Given the description of an element on the screen output the (x, y) to click on. 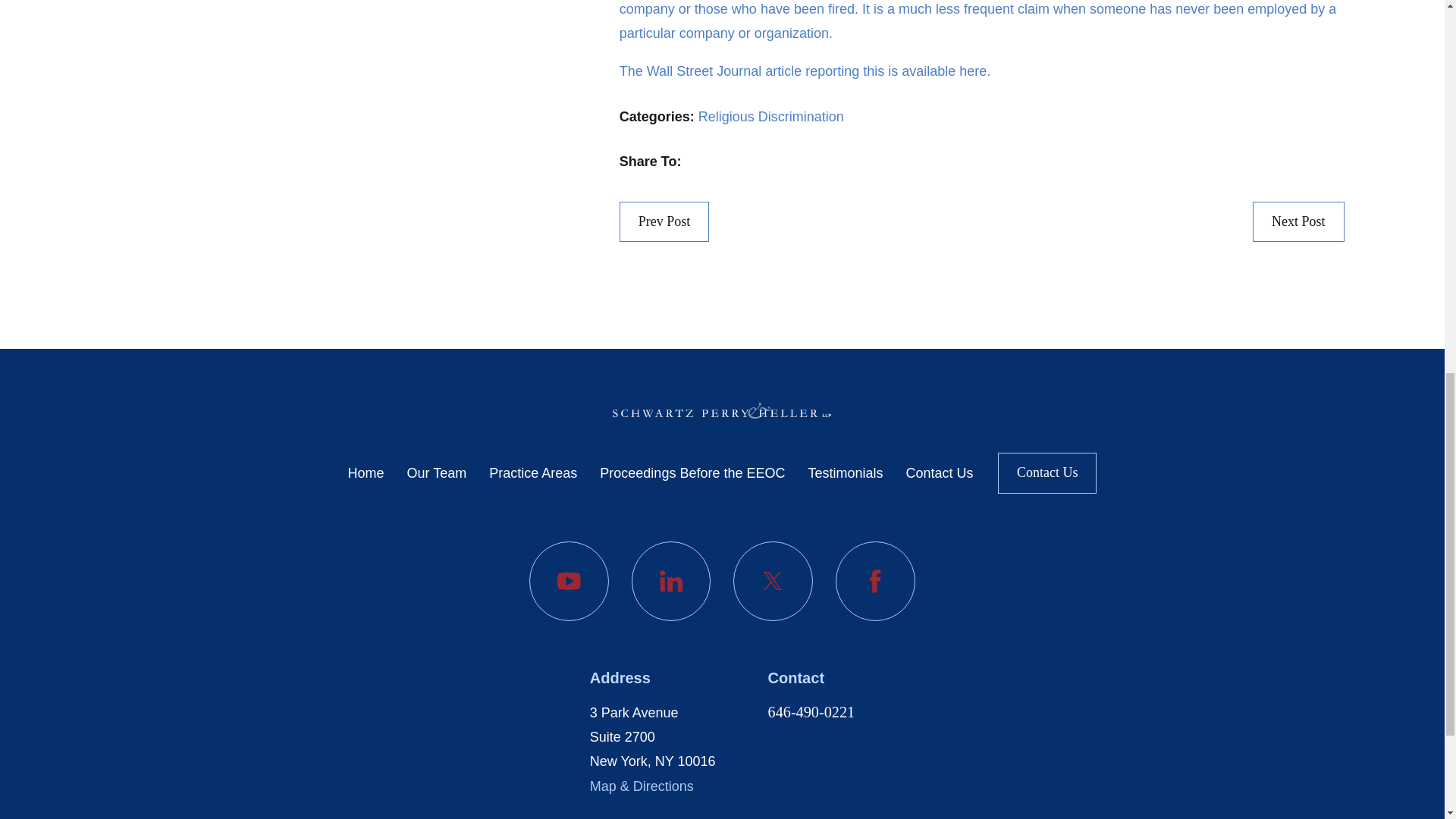
Home (721, 410)
YouTube (568, 580)
LinkedIn (671, 580)
Twitter (772, 580)
